Given the description of an element on the screen output the (x, y) to click on. 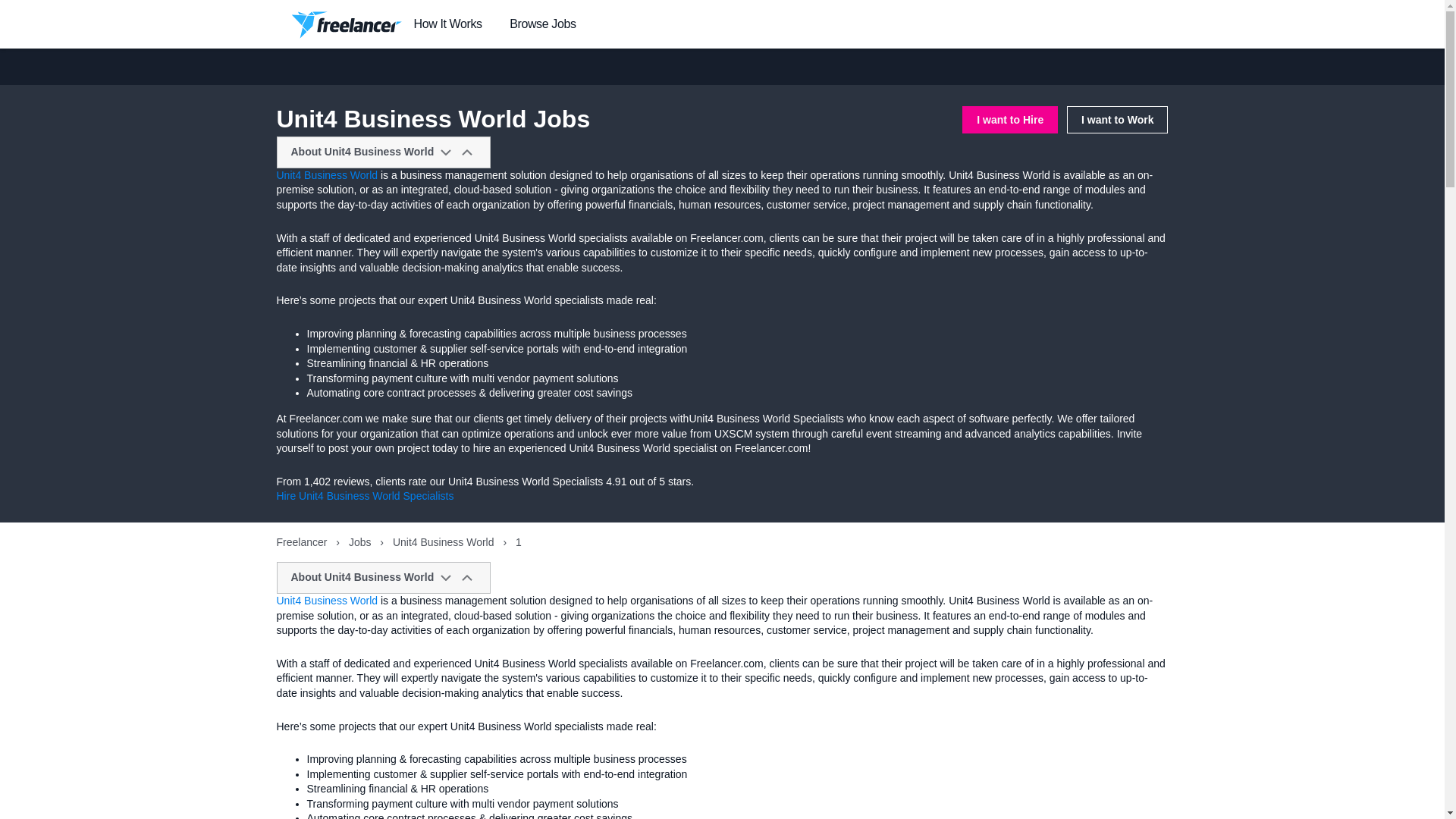
Jobs (361, 541)
Unit4 Business World (326, 174)
Freelancer (303, 541)
I want to Hire (1010, 119)
How It Works (447, 24)
Unit4 Business World (326, 600)
Hire Unit4 Business World Specialists (364, 495)
Unit4 Business World (444, 541)
About Unit4 Business World (383, 577)
About Unit4 Business World (383, 152)
I want to Work (1117, 119)
Browse Jobs (542, 24)
